Given the description of an element on the screen output the (x, y) to click on. 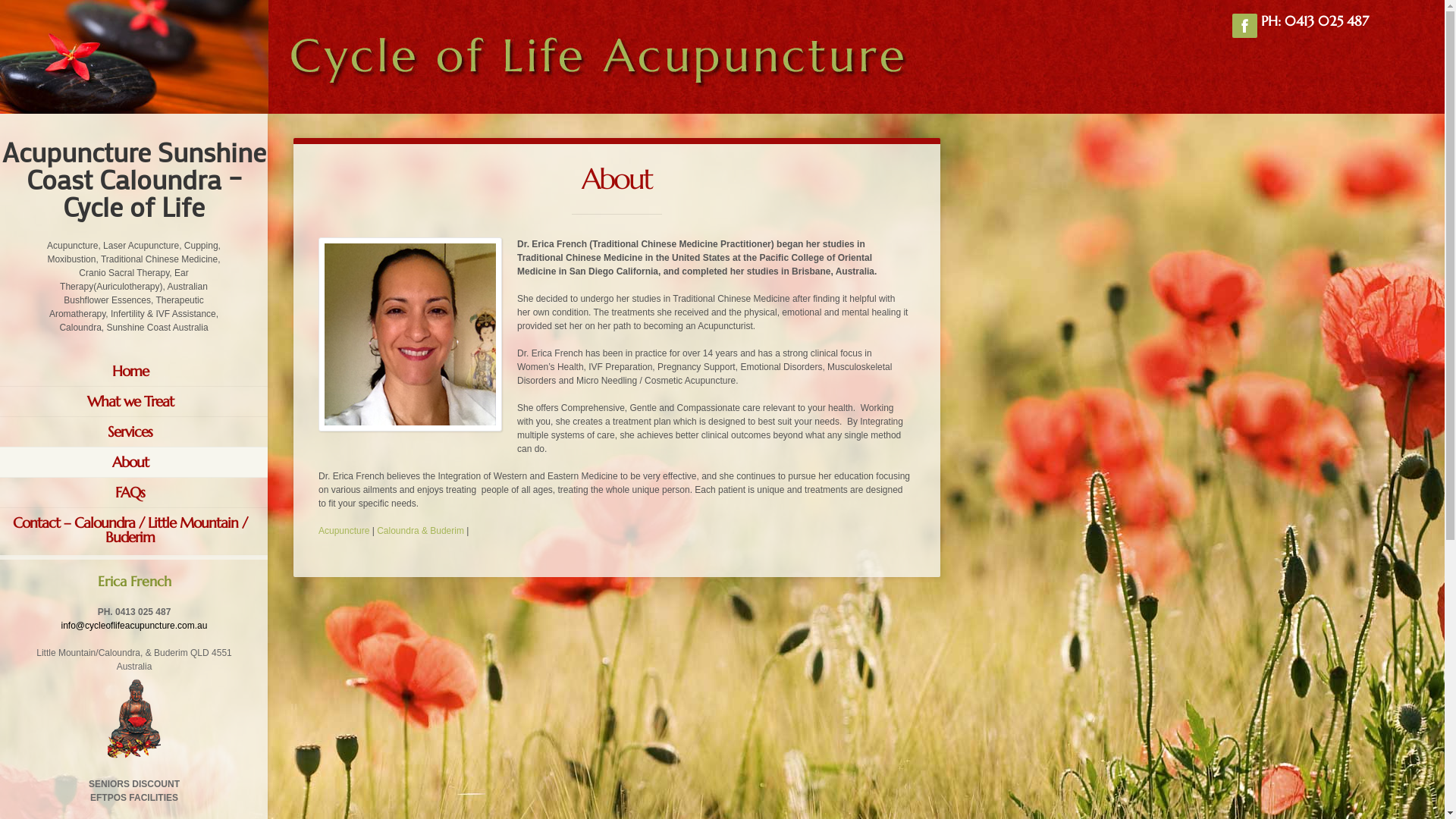
Acupuncture Element type: text (343, 530)
About Element type: text (133, 461)
Services Element type: text (133, 431)
FAQs Element type: text (133, 492)
info@cycleoflifeacupuncture.com.au Element type: text (134, 625)
facebook_account Element type: text (1244, 25)
Caloundra & Buderim Element type: text (420, 530)
Home Element type: text (133, 370)
004 Element type: hover (410, 334)
What we Treat Element type: text (133, 401)
